Given the description of an element on the screen output the (x, y) to click on. 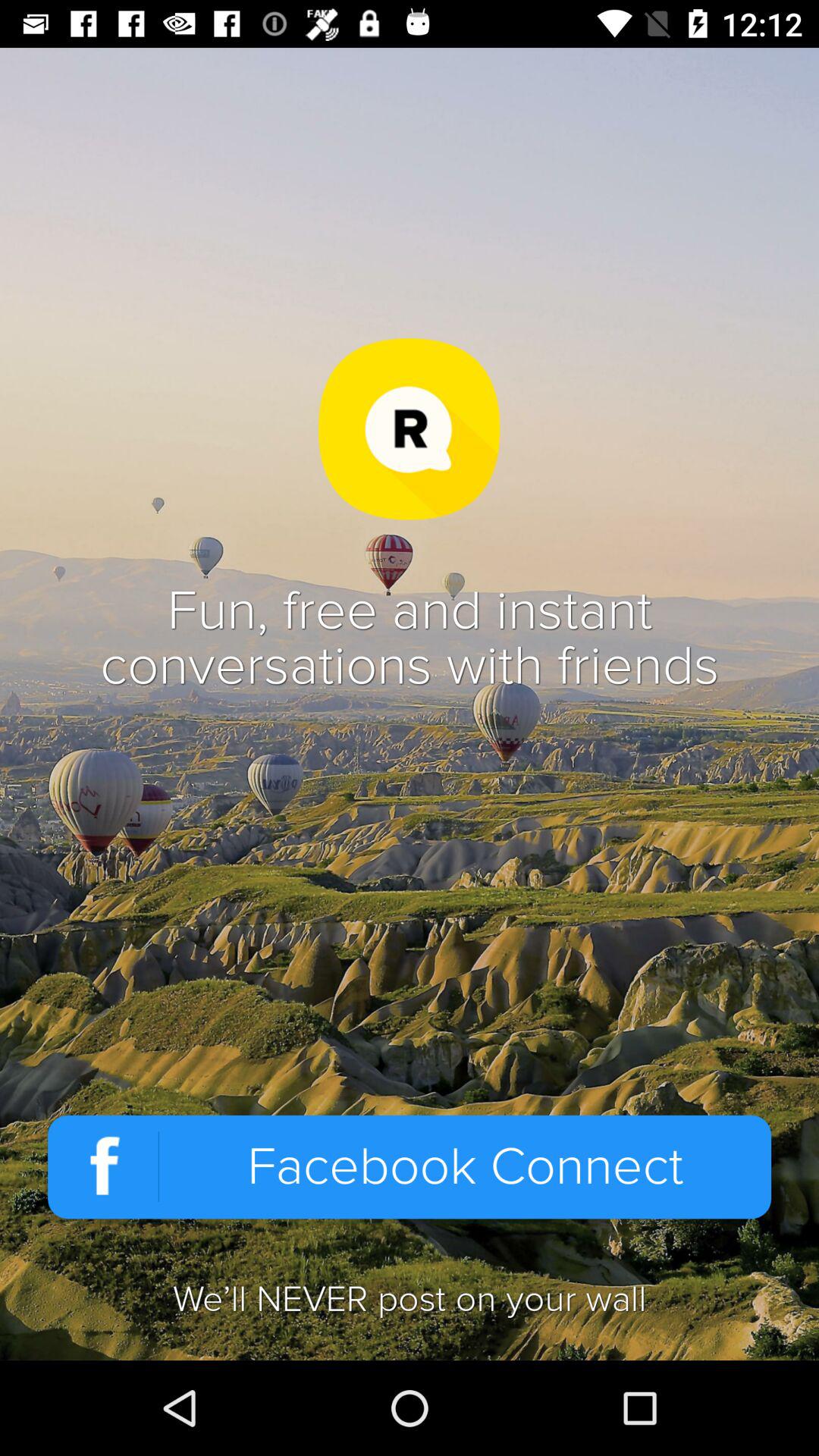
flip to facebook connect (409, 1166)
